Given the description of an element on the screen output the (x, y) to click on. 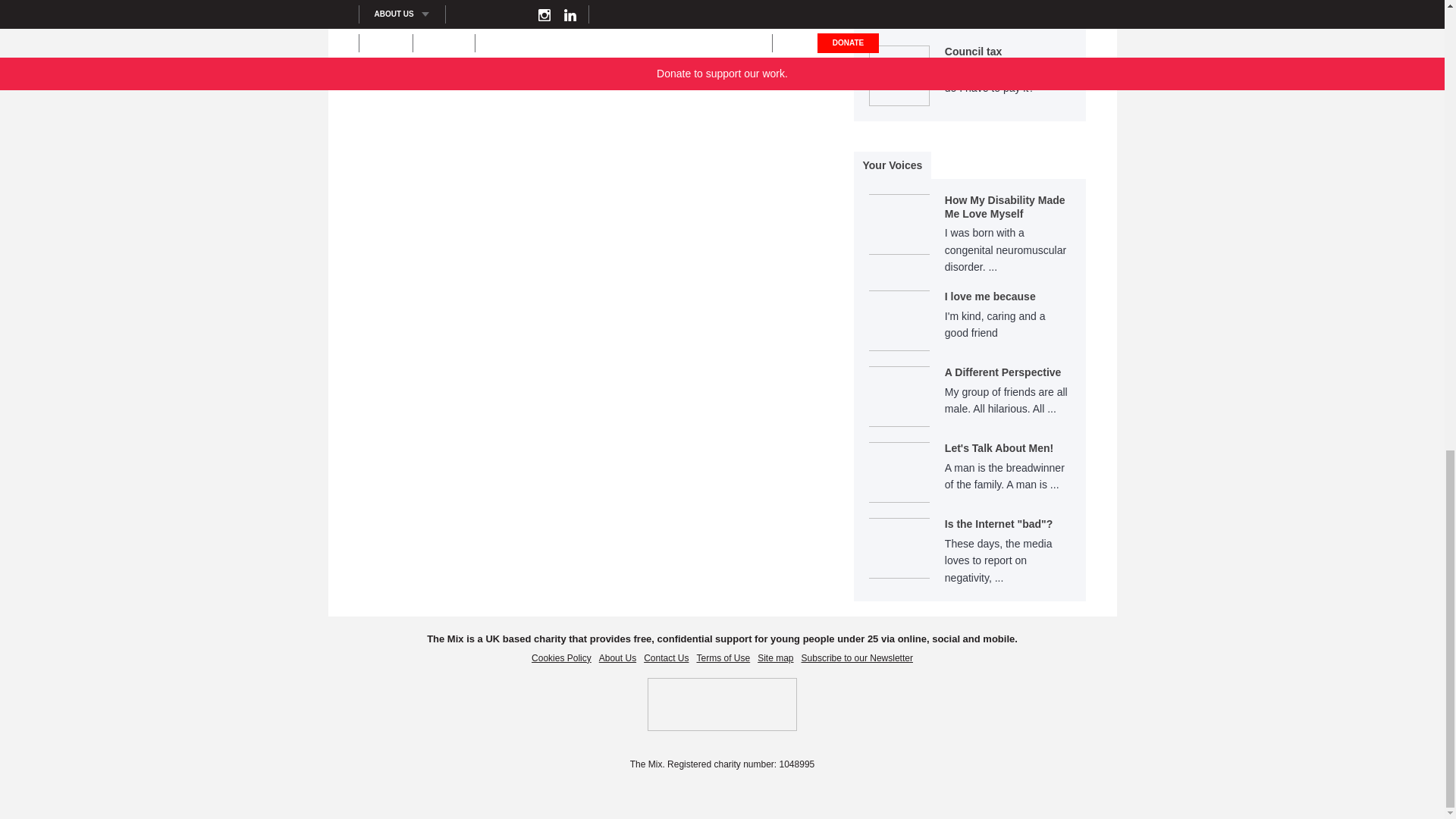
Help, I'm being kicked out of home (1007, 15)
A Different Perspective (970, 404)
I love me because (970, 328)
Council tax (1007, 70)
How My Disability Made Me Love Myself (970, 242)
